Given the description of an element on the screen output the (x, y) to click on. 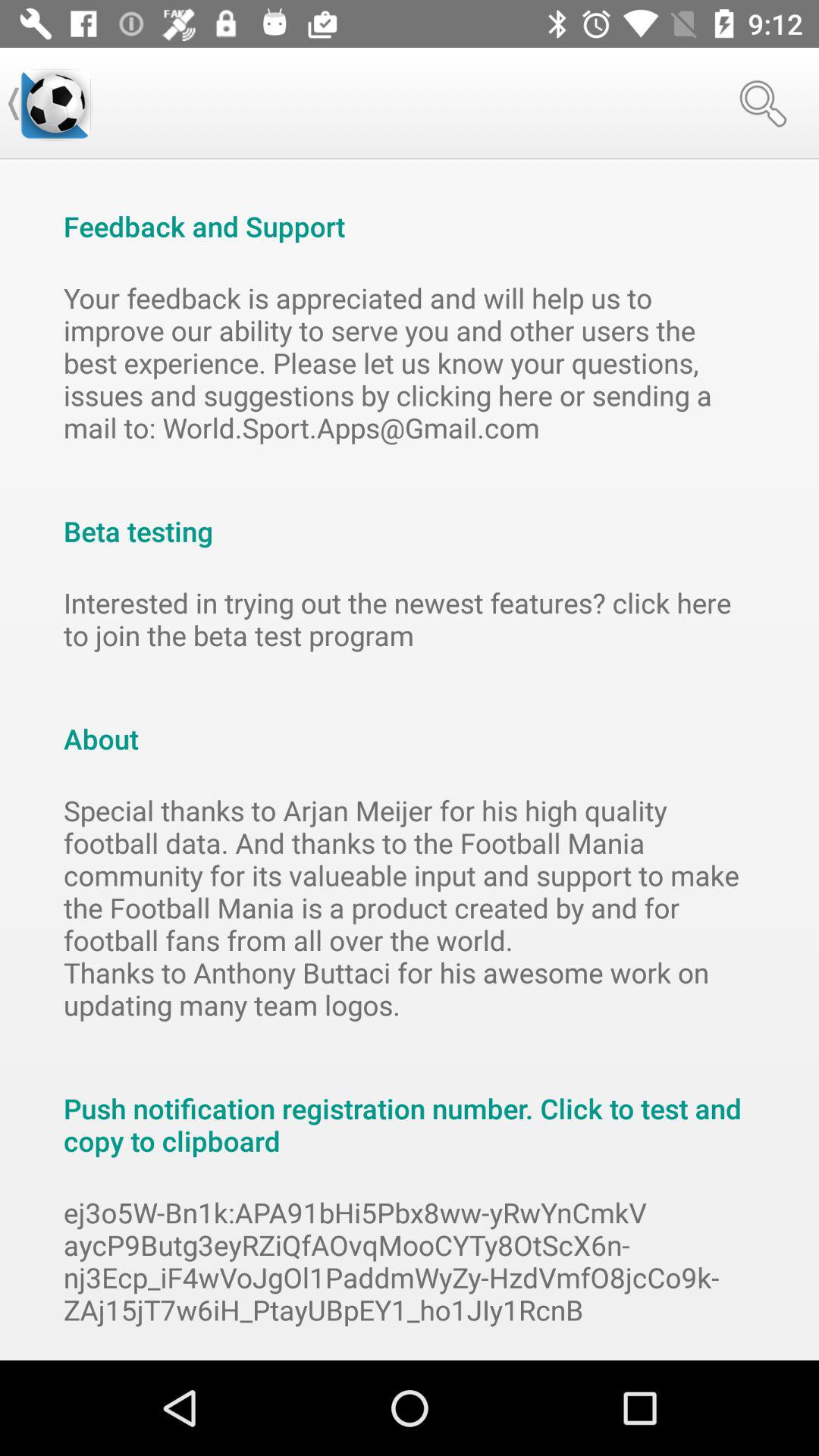
launch the item above push notification registration icon (409, 907)
